Given the description of an element on the screen output the (x, y) to click on. 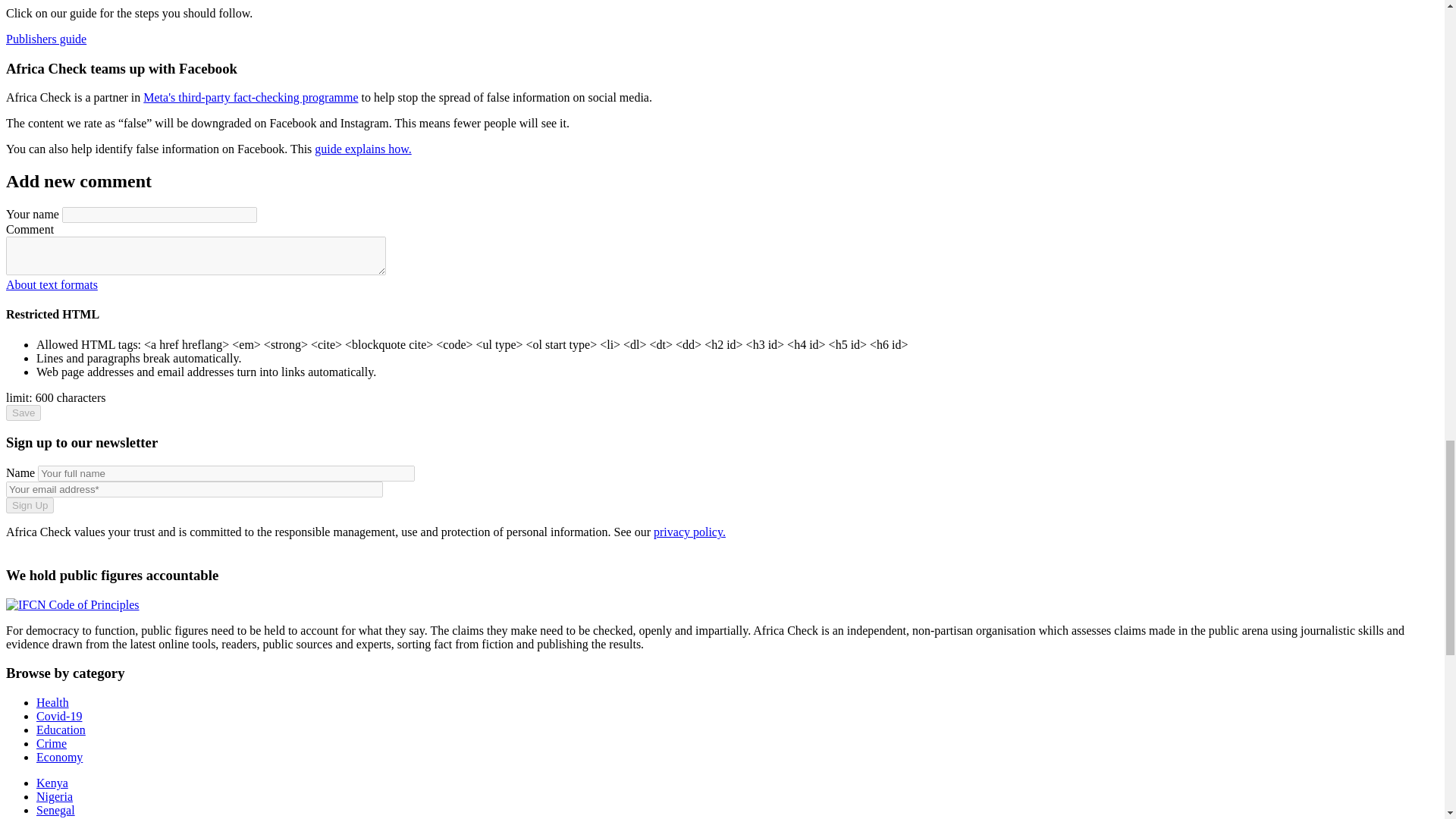
Save (22, 412)
Sign Up (29, 505)
IFCN signatory (72, 604)
